Given the description of an element on the screen output the (x, y) to click on. 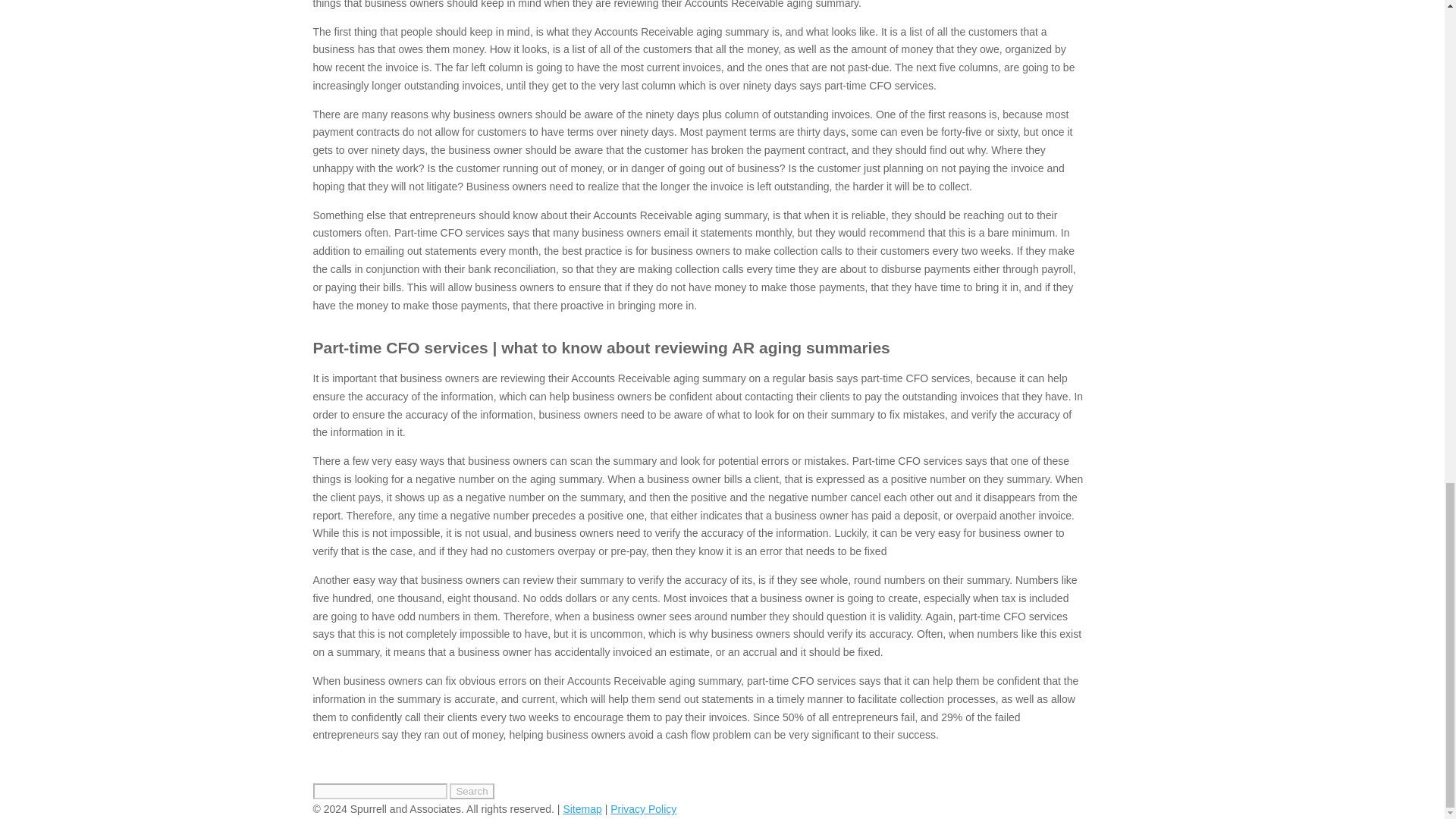
Sitemap (581, 808)
Search (471, 790)
Privacy Policy (643, 808)
Search (471, 790)
